Given the description of an element on the screen output the (x, y) to click on. 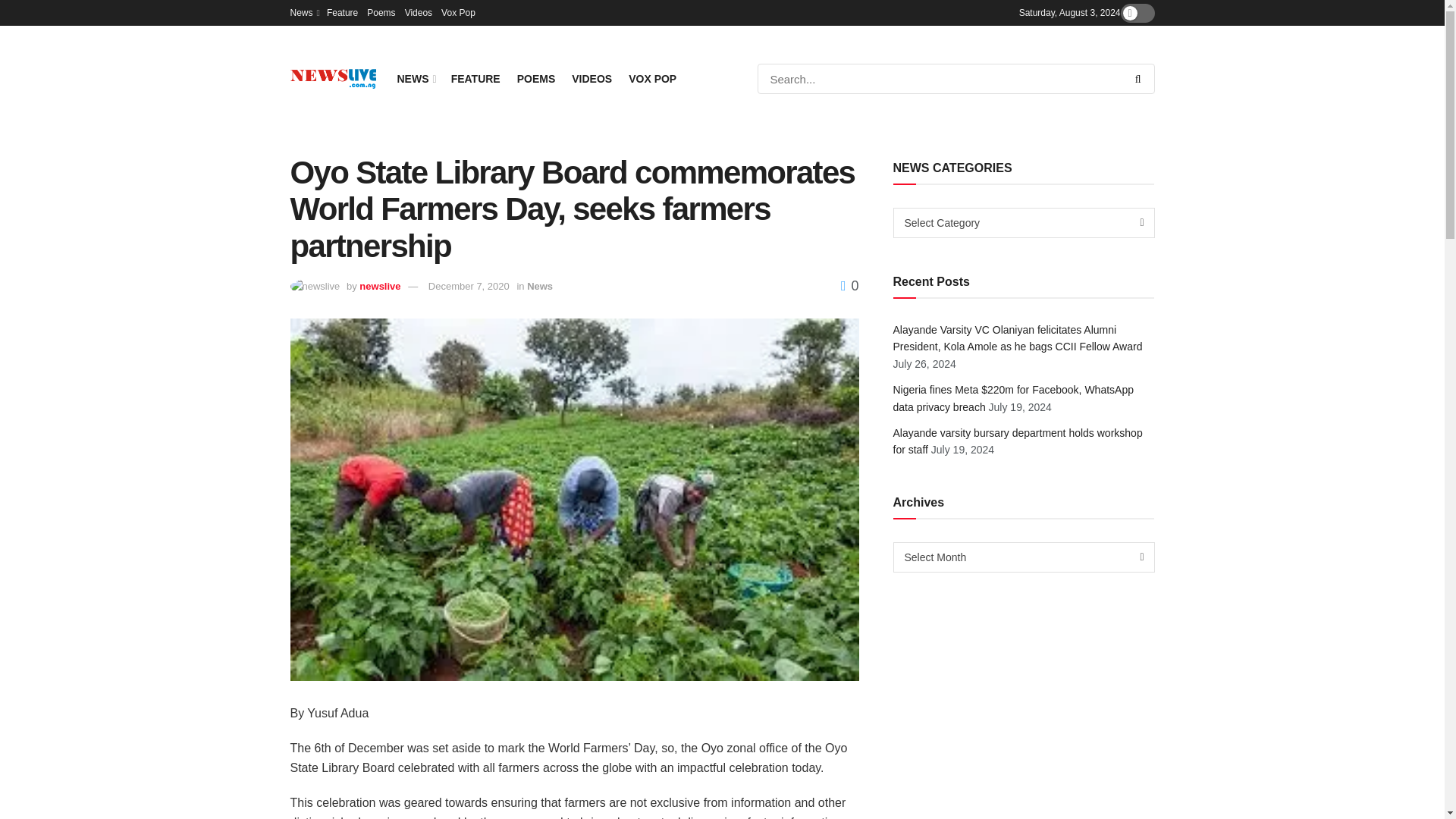
News (303, 12)
Vox Pop (458, 12)
VOX POP (652, 78)
Poems (380, 12)
Feature (342, 12)
NEWS (415, 78)
Videos (418, 12)
POEMS (536, 78)
FEATURE (475, 78)
VIDEOS (591, 78)
